Given the description of an element on the screen output the (x, y) to click on. 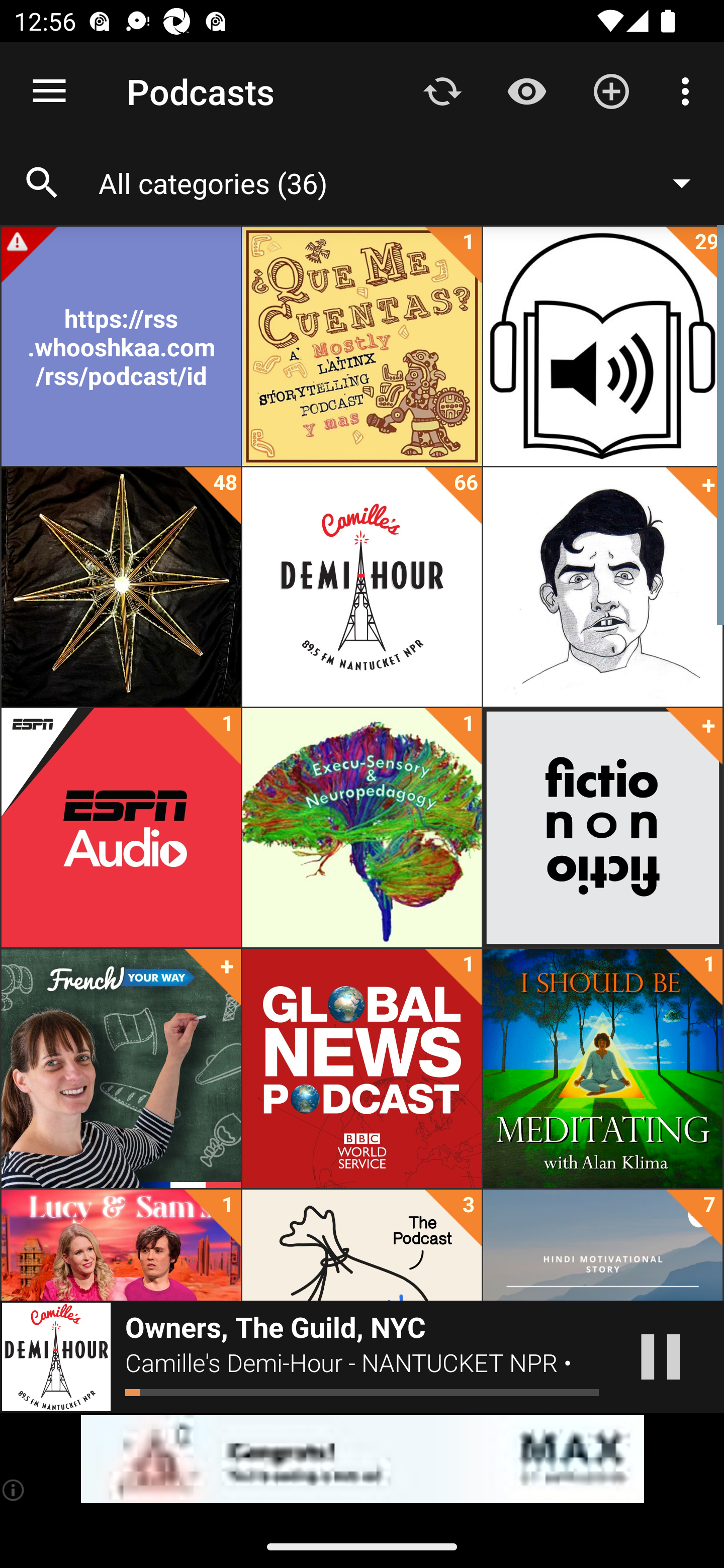
Open navigation sidebar (49, 91)
Update (442, 90)
Show / Hide played content (526, 90)
Add new Podcast (611, 90)
More options (688, 90)
Search (42, 183)
All categories (36) (404, 182)
https://rss.whooshkaa.com/rss/podcast/id/5884 (121, 346)
¿Qué Me Cuentas?: Latinx Storytelling 1 (361, 346)
Audiobooks 29 (602, 346)
Audiobooks 48 (121, 587)
Camille's Demi-Hour - NANTUCKET NPR 66 (361, 587)
Cooking Issues with Dave Arnold + (602, 587)
ESPN Audio 1 (121, 827)
fiction/non/fiction + (602, 827)
Global News Podcast 1 (361, 1068)
Play / Pause (660, 1356)
app-monetization (362, 1459)
(i) (14, 1489)
